Given the description of an element on the screen output the (x, y) to click on. 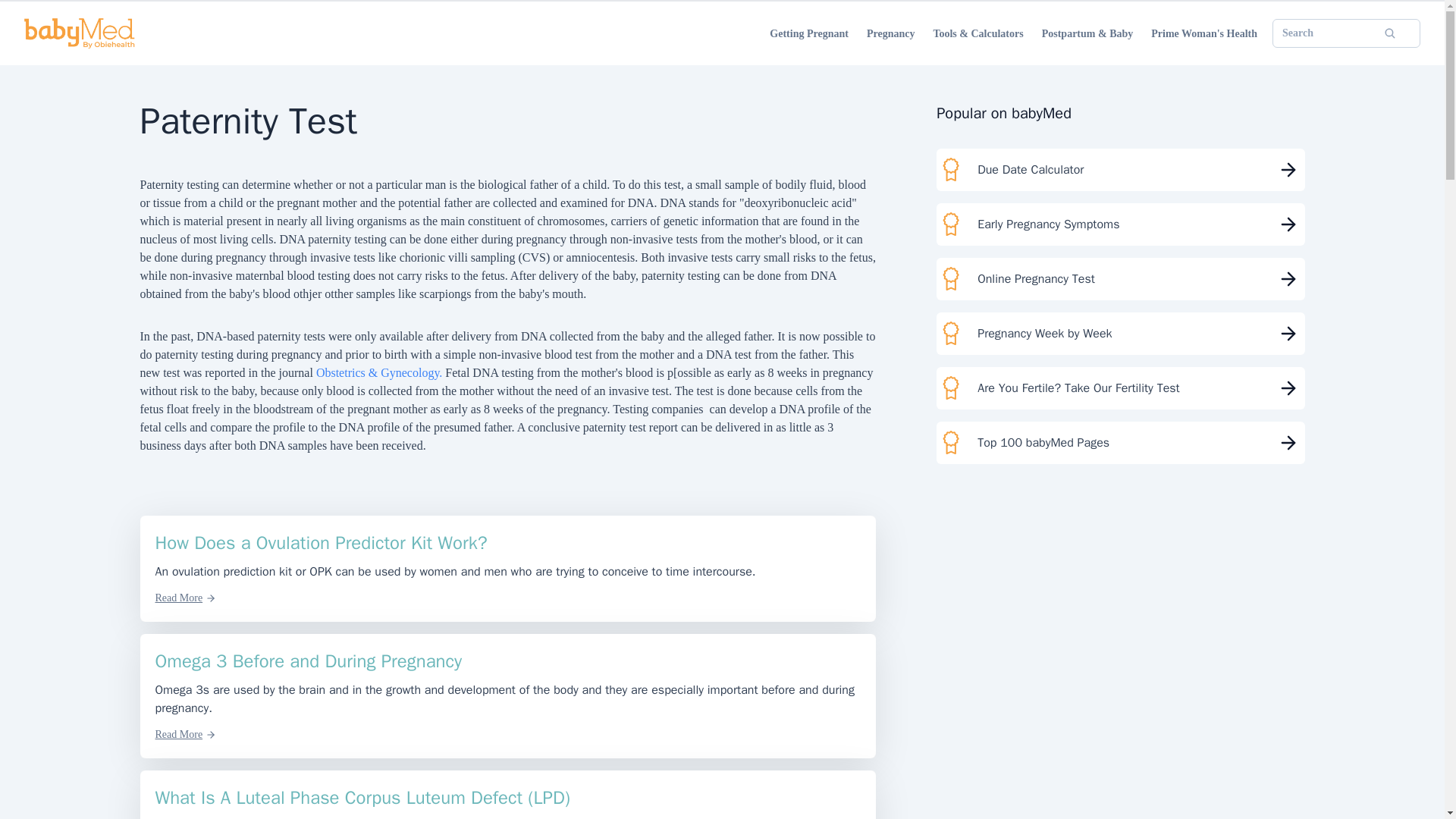
Prime Woman's Health (1204, 33)
Read More (184, 734)
Read More (184, 598)
Pregnancy (890, 33)
Getting Pregnant (809, 33)
